Given the description of an element on the screen output the (x, y) to click on. 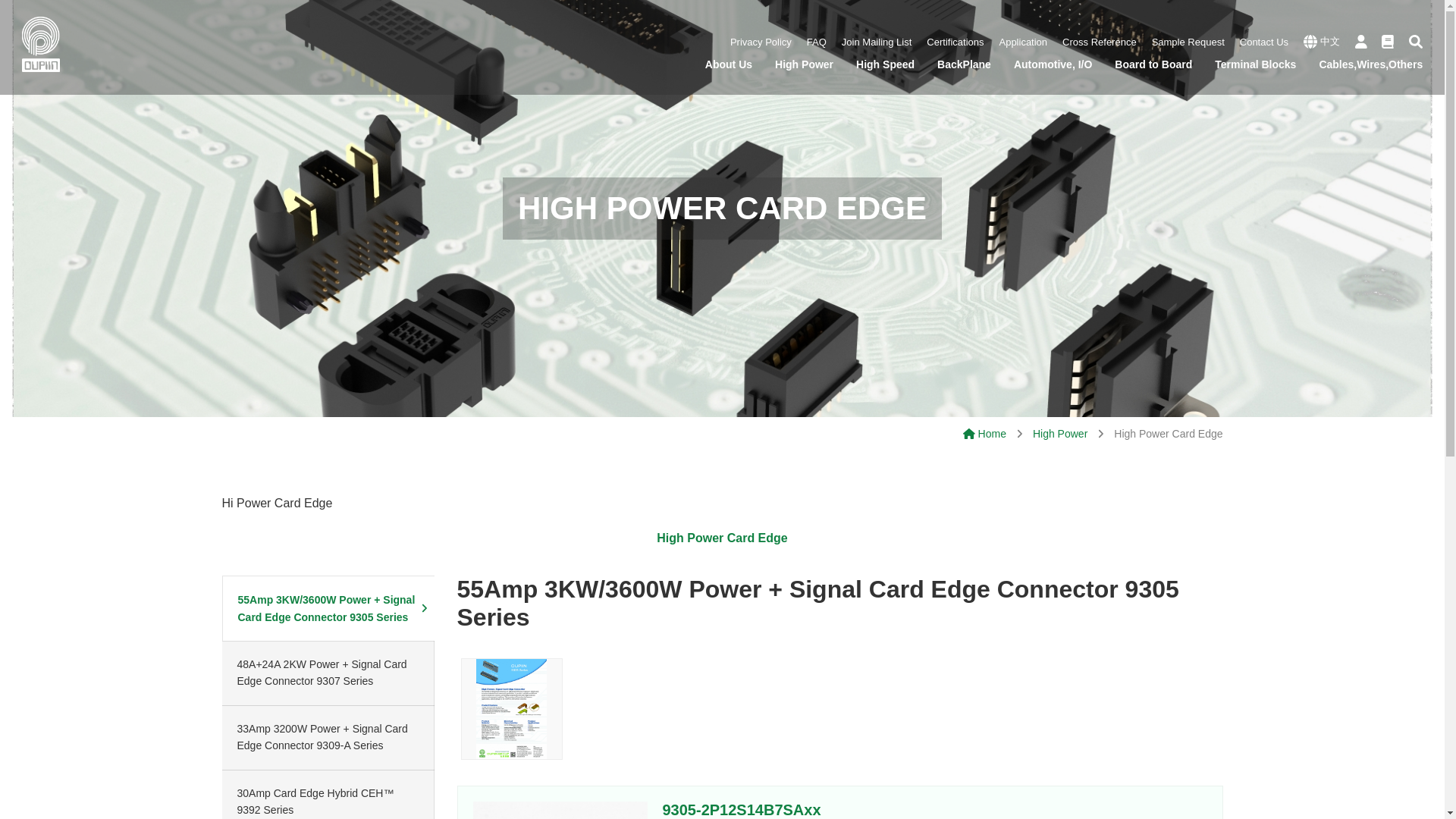
High Power (803, 68)
Sample Request (1187, 41)
Join Mailing List (876, 41)
Application (1022, 41)
About Us (728, 68)
FAQ (816, 41)
Cross Reference (1099, 41)
Search (1415, 42)
Contact Us (1264, 41)
Privacy Policy (761, 41)
Certifications (955, 41)
